Given the description of an element on the screen output the (x, y) to click on. 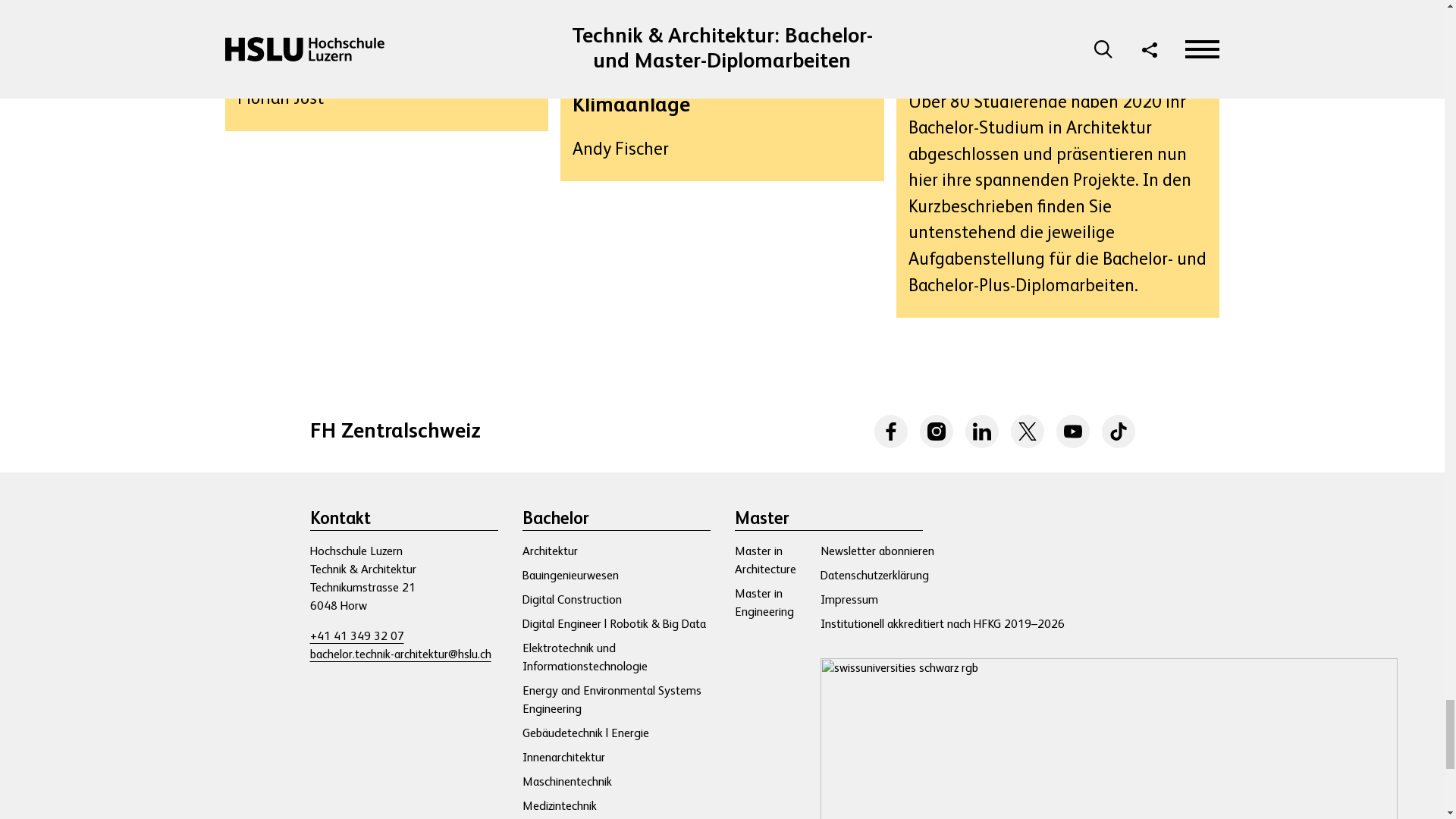
Mehr zu Formula Student Electric erfahren (386, 65)
Mehr zu Architektur: Bachelor-Diplomarbeiten 2020 erfahren (1058, 158)
YouTube (1072, 430)
Instagram (935, 430)
LinkedIn (1026, 430)
Facebook (890, 430)
TikTok (1117, 430)
X (980, 430)
